Given the description of an element on the screen output the (x, y) to click on. 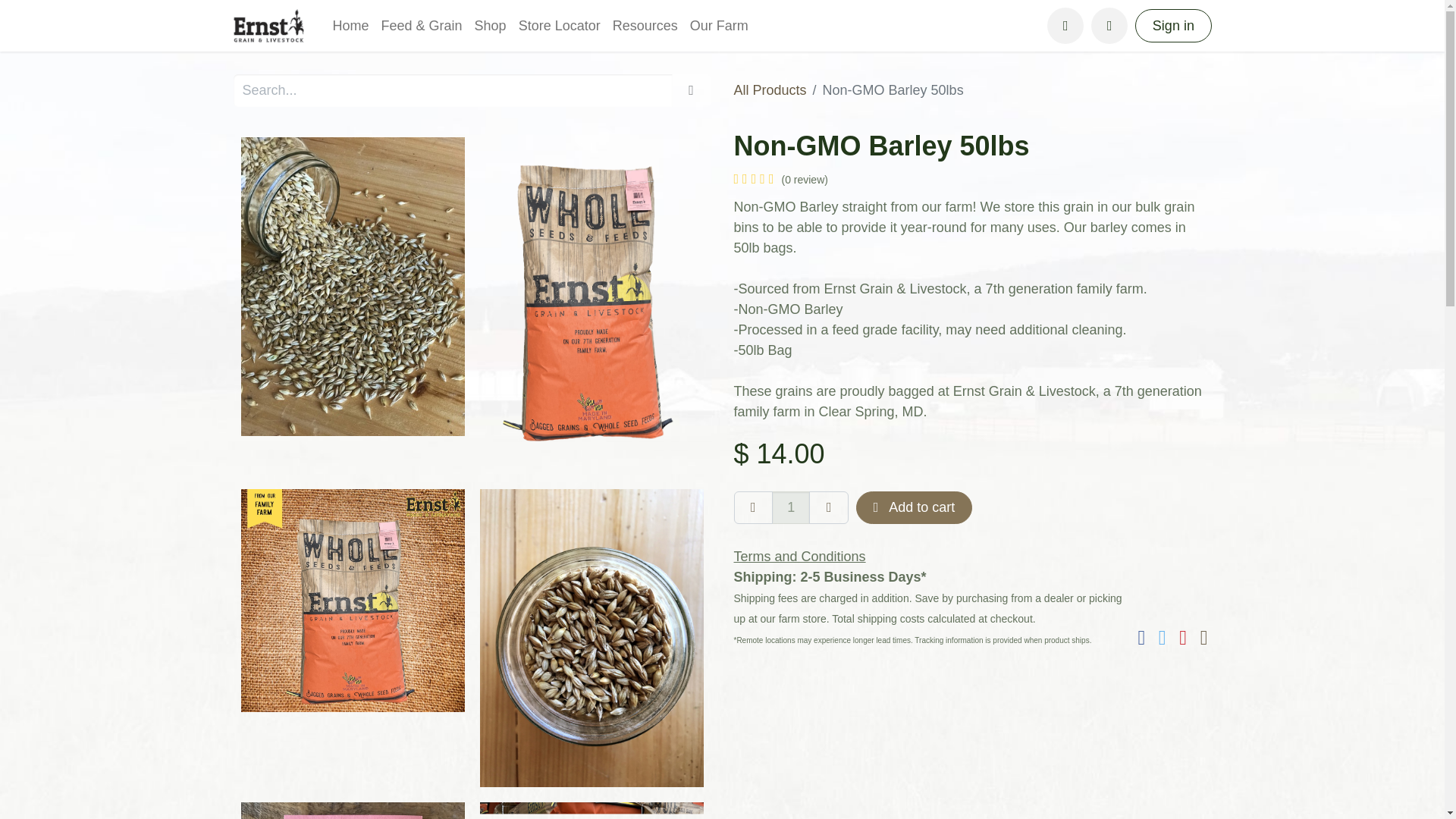
Search (691, 90)
Store Locator (559, 25)
Add one (828, 507)
1 (790, 507)
Home (350, 25)
All Products (769, 89)
Add to cart (914, 507)
Search (1108, 25)
Sign in (1173, 25)
Terms and Conditions (799, 556)
